Given the description of an element on the screen output the (x, y) to click on. 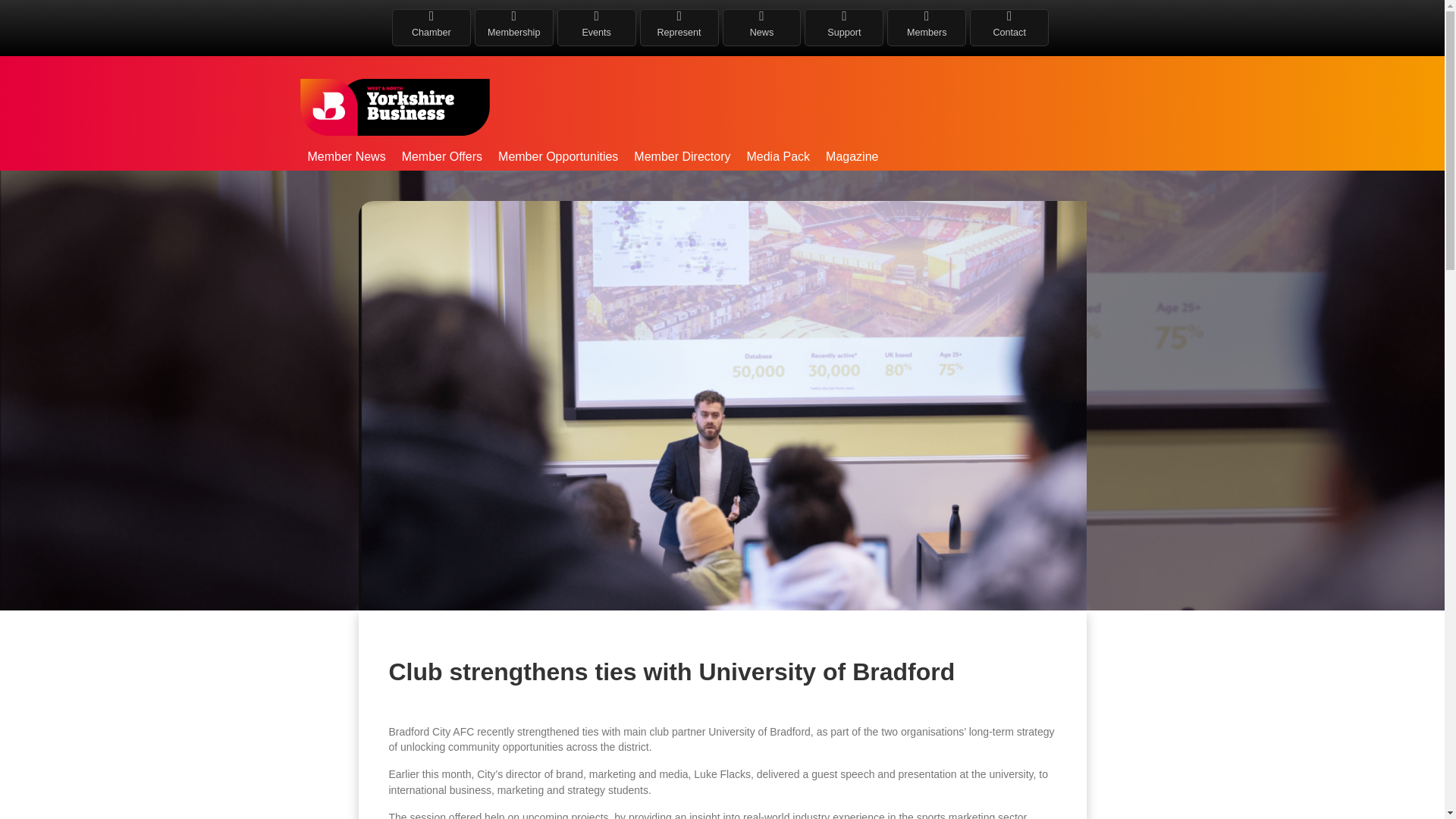
Member Opportunities (558, 156)
Contact (1009, 27)
Member News (346, 156)
Member Directory (682, 156)
Members (926, 27)
Chamber (431, 27)
Represent (678, 27)
Events (595, 27)
Media Pack (777, 156)
